Given the description of an element on the screen output the (x, y) to click on. 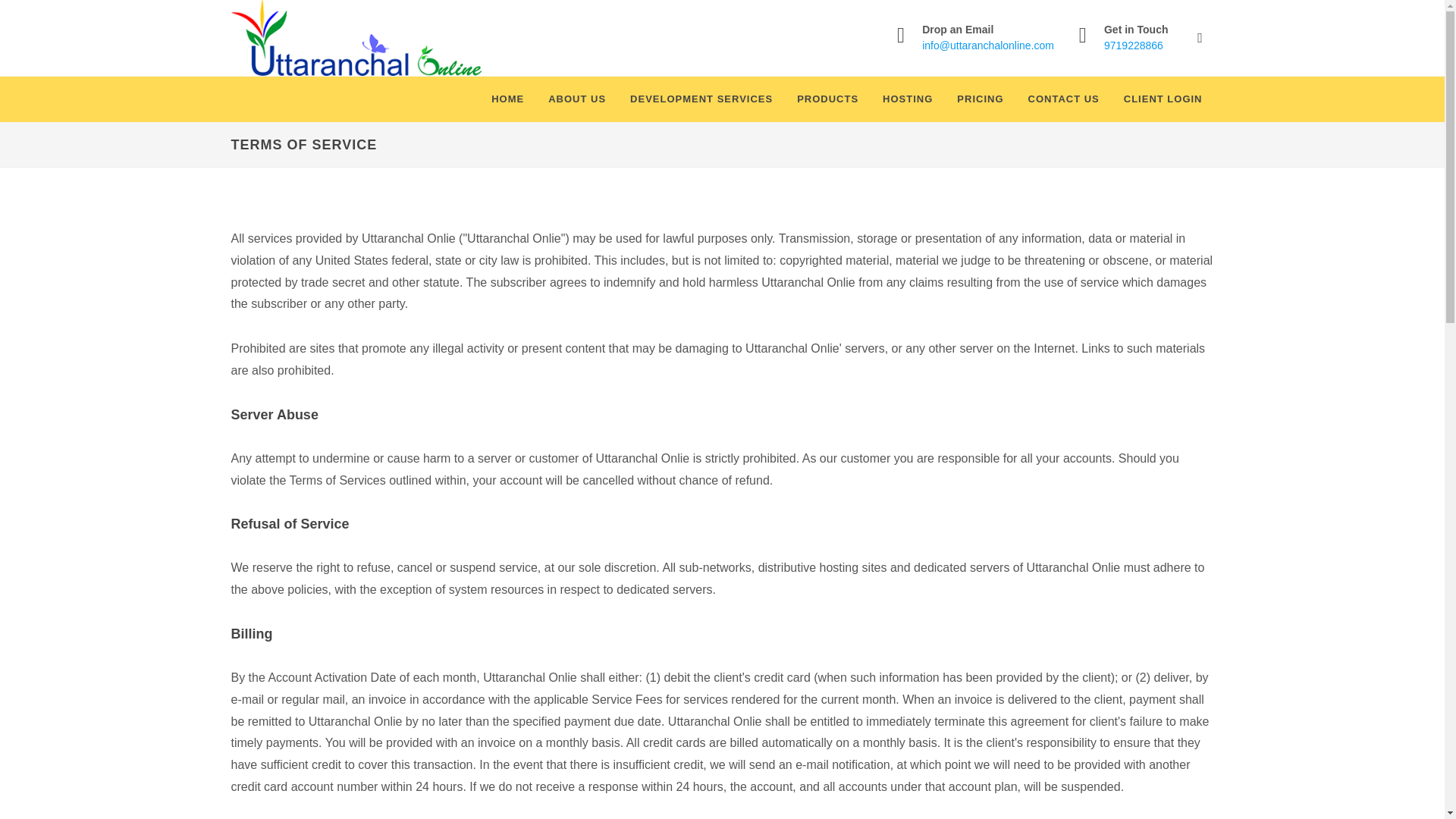
PRODUCTS (827, 99)
CONTACT US (1063, 99)
HOSTING (906, 99)
ABOUT US (577, 99)
PRICING (979, 99)
DEVELOPMENT SERVICES (701, 99)
CLIENT LOGIN (1163, 99)
HOME (507, 99)
